Given the description of an element on the screen output the (x, y) to click on. 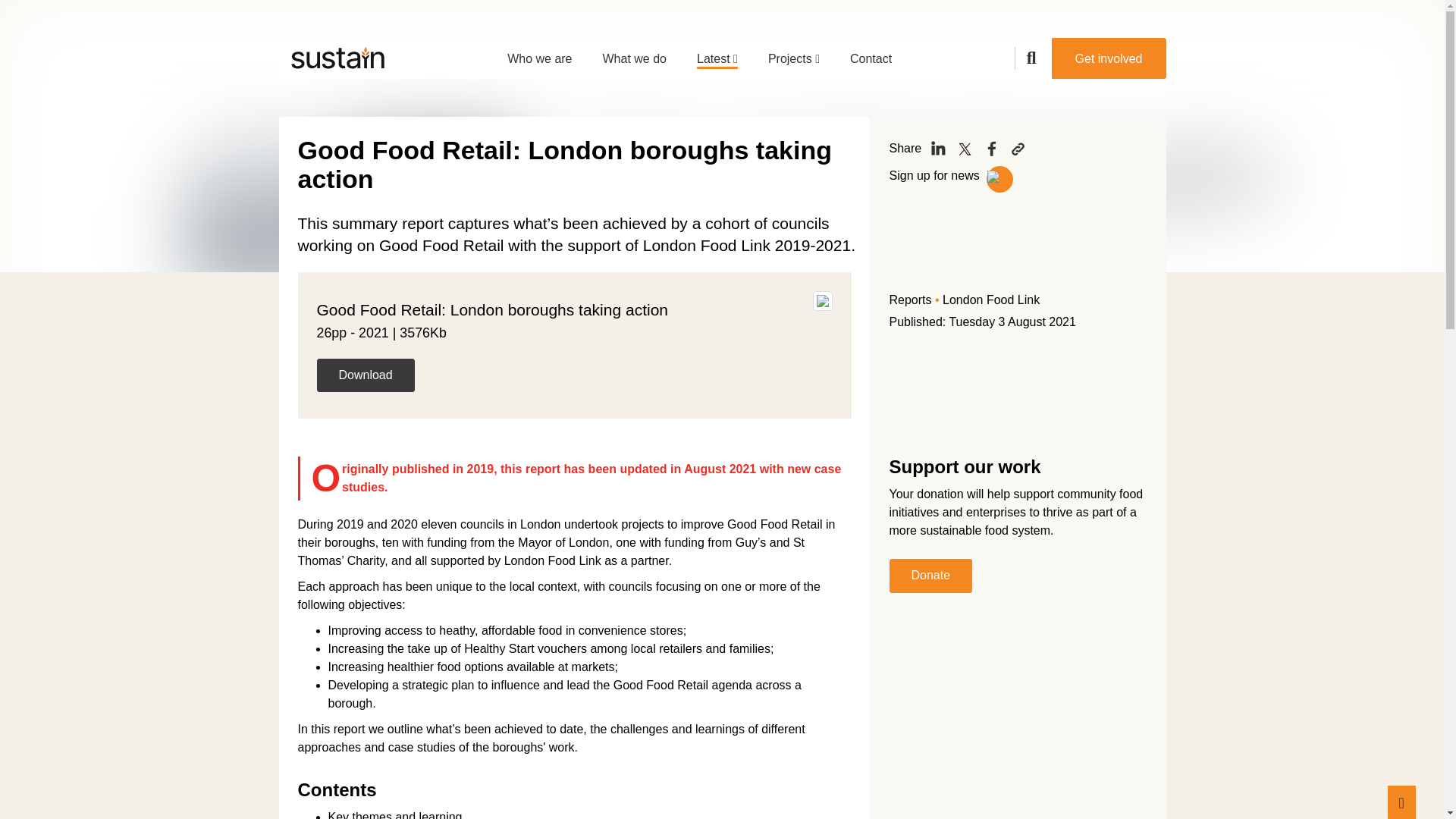
Get involved (1108, 57)
Share link (1017, 148)
Projects (793, 52)
Who we are (539, 52)
London Food Link (990, 299)
LinkedIn (938, 148)
Contact (870, 52)
Reports (909, 299)
What we do (634, 52)
Latest (717, 52)
